Given the description of an element on the screen output the (x, y) to click on. 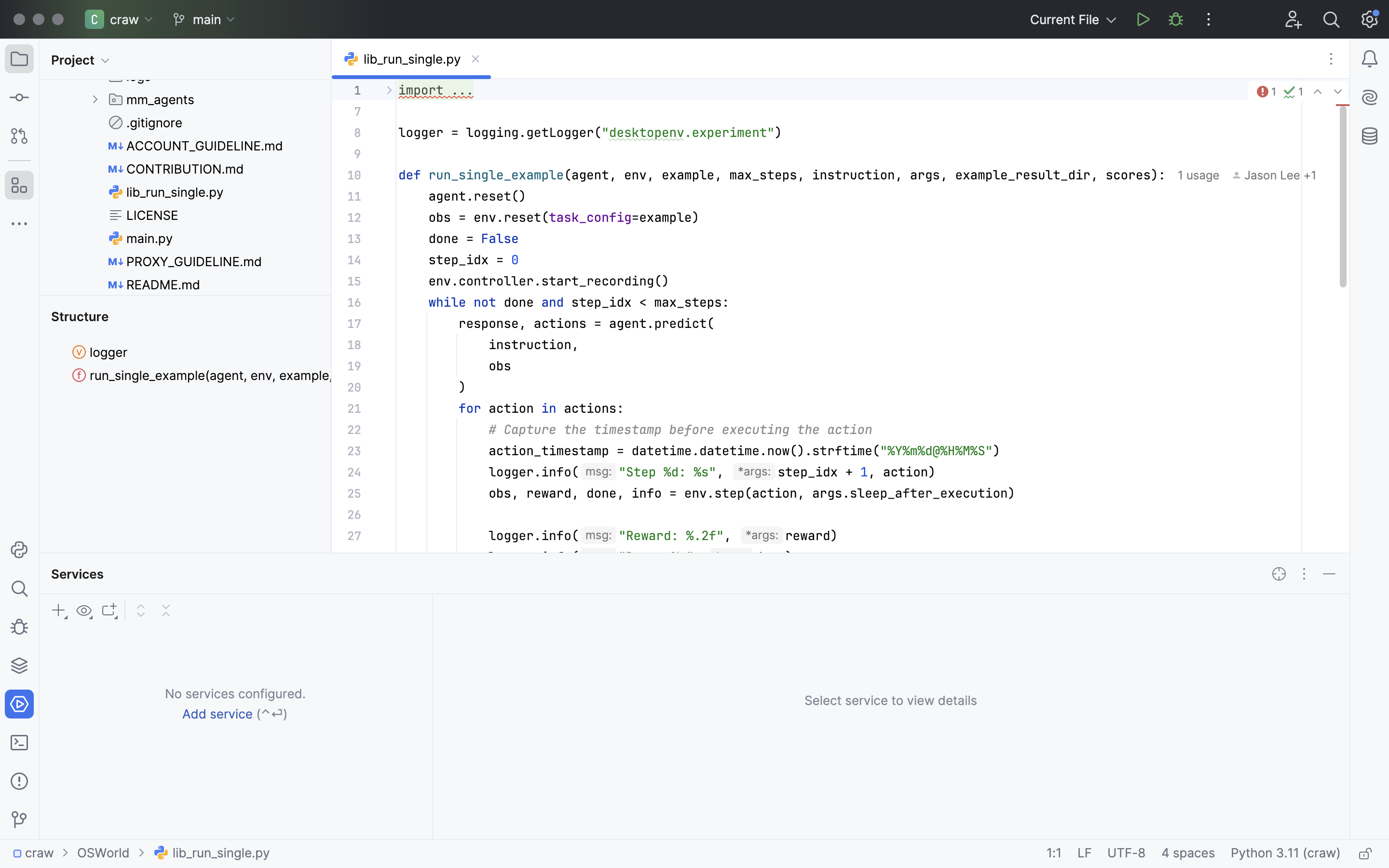
Python Packages Element type: AXStaticText (105, 573)
LF Element type: AXStaticText (1084, 854)
Installed Element type: AXStaticText (78, 634)
